Given the description of an element on the screen output the (x, y) to click on. 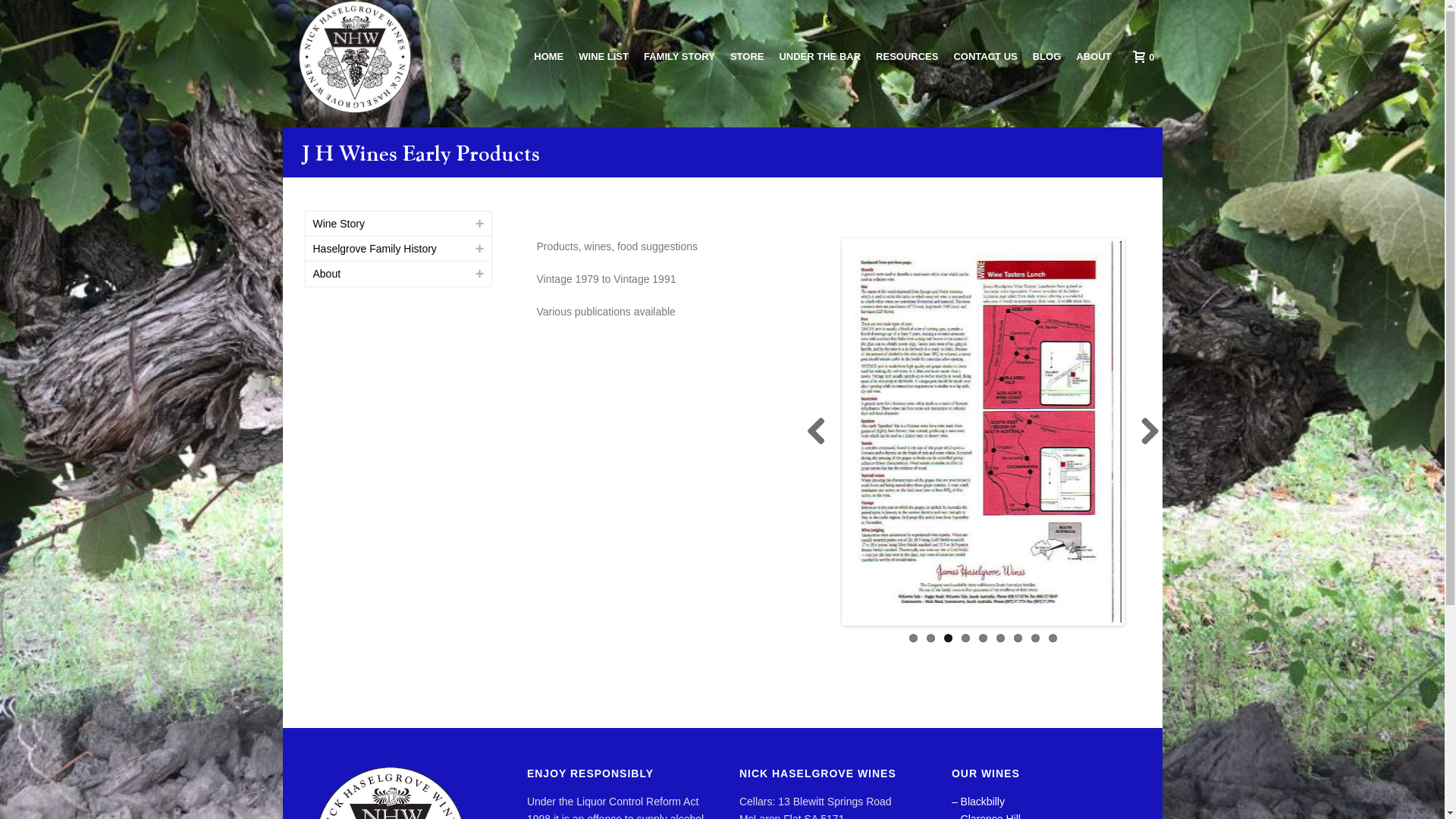
5 Element type: text (983, 637)
9 Element type: text (1052, 637)
STORE Element type: text (746, 57)
8 Element type: text (1035, 637)
3 Element type: text (948, 637)
6 Element type: text (1000, 637)
1 Element type: text (913, 637)
7 Element type: text (1017, 637)
UNDER THE BAR Element type: text (819, 57)
BLOG Element type: text (1047, 57)
Wine Story Element type: text (337, 223)
ABOUT Element type: text (1093, 57)
2 Element type: text (930, 637)
FAMILY STORY Element type: text (679, 57)
Previous Element type: text (821, 432)
CONTACT US Element type: text (984, 57)
4 Element type: text (965, 637)
Haselgrove Family History Element type: text (373, 248)
HOME Element type: text (548, 57)
About Element type: text (326, 273)
WINE LIST Element type: text (603, 57)
Next Element type: text (1143, 432)
RESOURCES Element type: text (906, 57)
0 Element type: text (1141, 56)
